Given the description of an element on the screen output the (x, y) to click on. 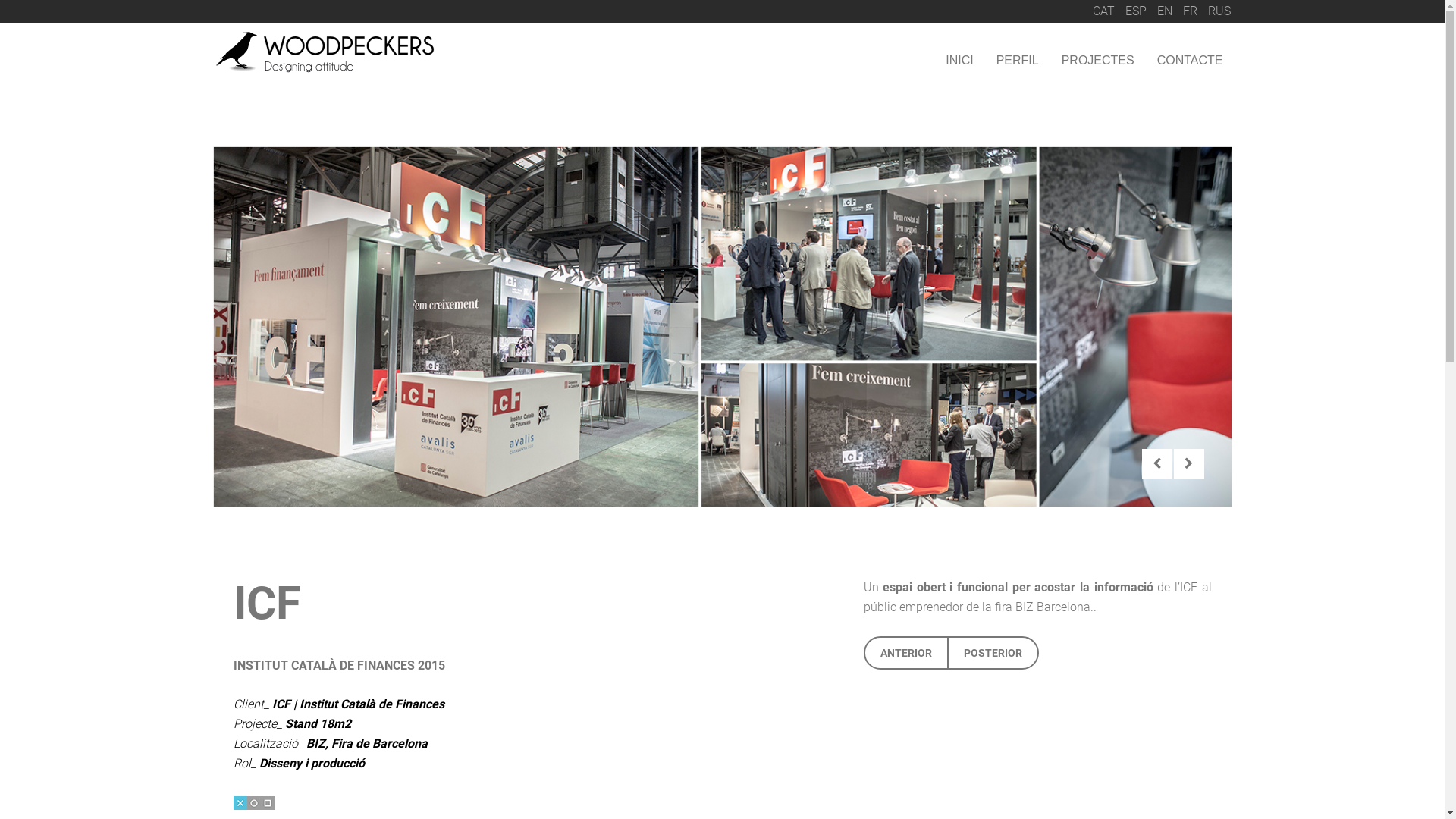
PROJECTES Element type: text (1097, 60)
ESP Element type: text (1137, 10)
EN Element type: text (1166, 10)
CAT Element type: text (1104, 10)
RUS Element type: text (1218, 10)
CONTACTE Element type: text (1189, 60)
POSTERIOR Element type: text (992, 652)
ANTERIOR Element type: text (904, 652)
PERFIL Element type: text (1017, 60)
FR Element type: text (1191, 10)
INICI Element type: text (959, 60)
